Given the description of an element on the screen output the (x, y) to click on. 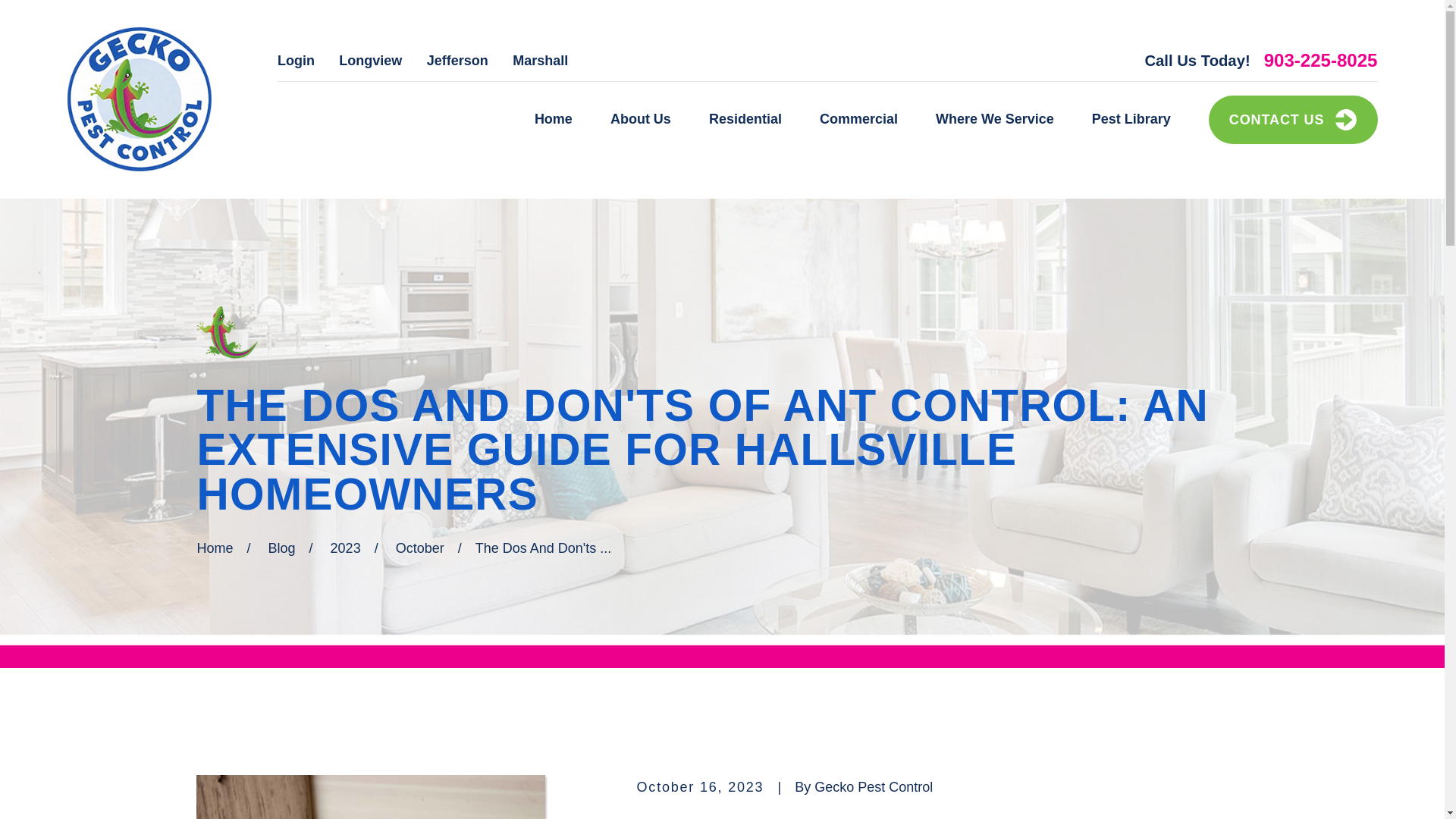
Jefferson (456, 60)
Residential (745, 119)
Gecko Pest Control (138, 99)
903-225-8025 (1320, 60)
Marshall (539, 60)
Where We Service (995, 119)
Commercial (858, 119)
Login (296, 60)
Go Home (214, 548)
Longview (370, 60)
